Given the description of an element on the screen output the (x, y) to click on. 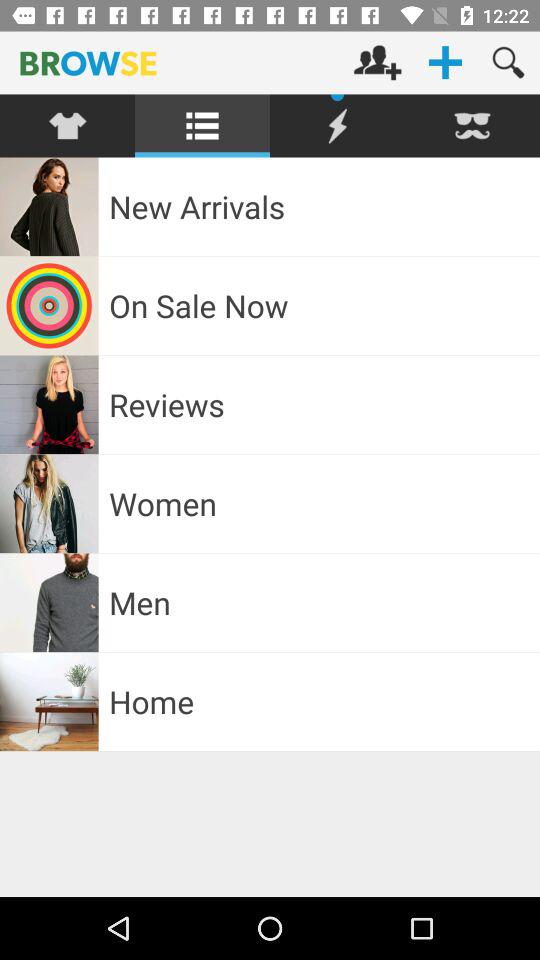
clothing options (67, 125)
